Given the description of an element on the screen output the (x, y) to click on. 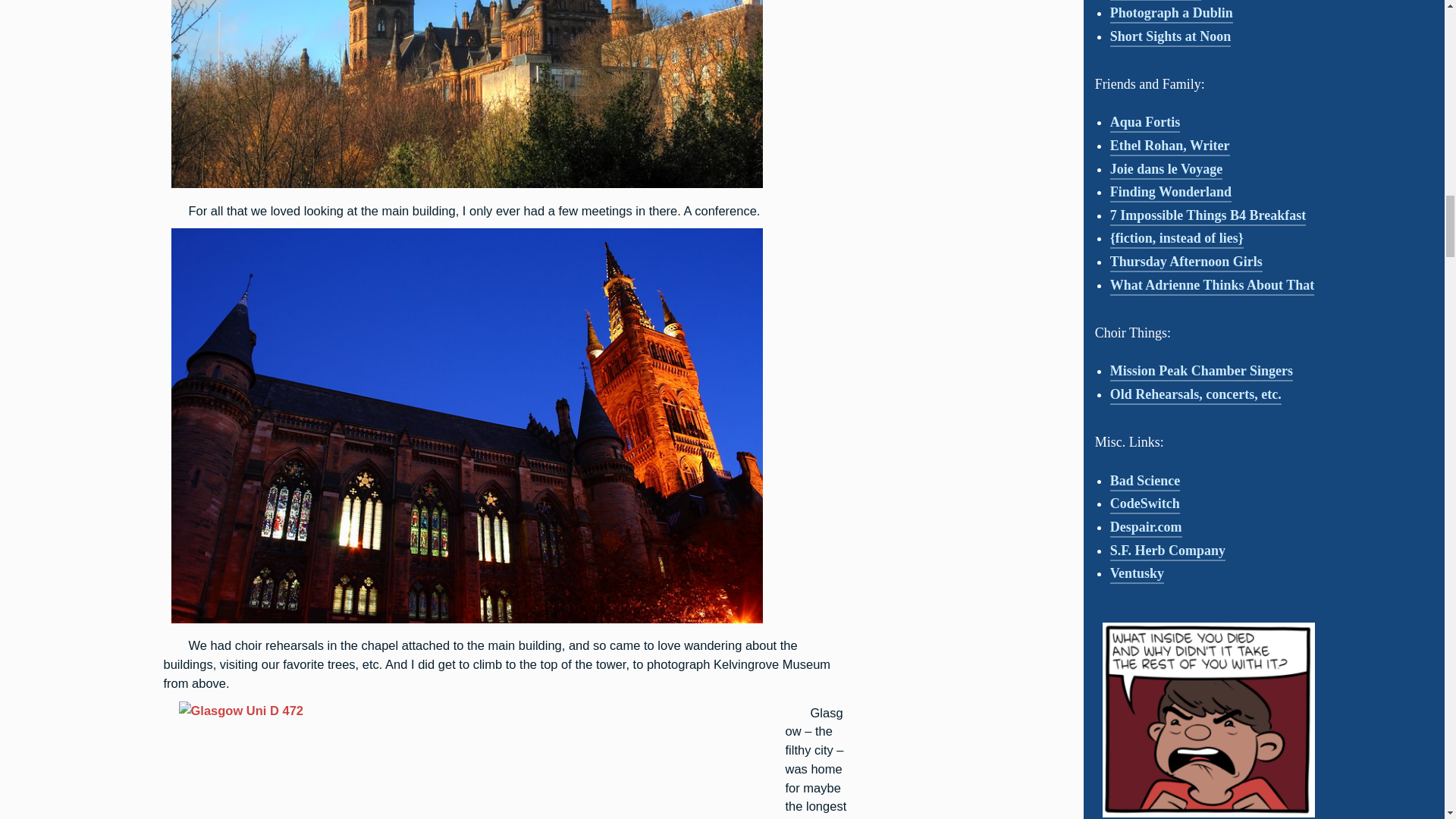
Glasgow Uni 253 (466, 622)
Kelvingrove Park 317 HDR (466, 186)
